Given the description of an element on the screen output the (x, y) to click on. 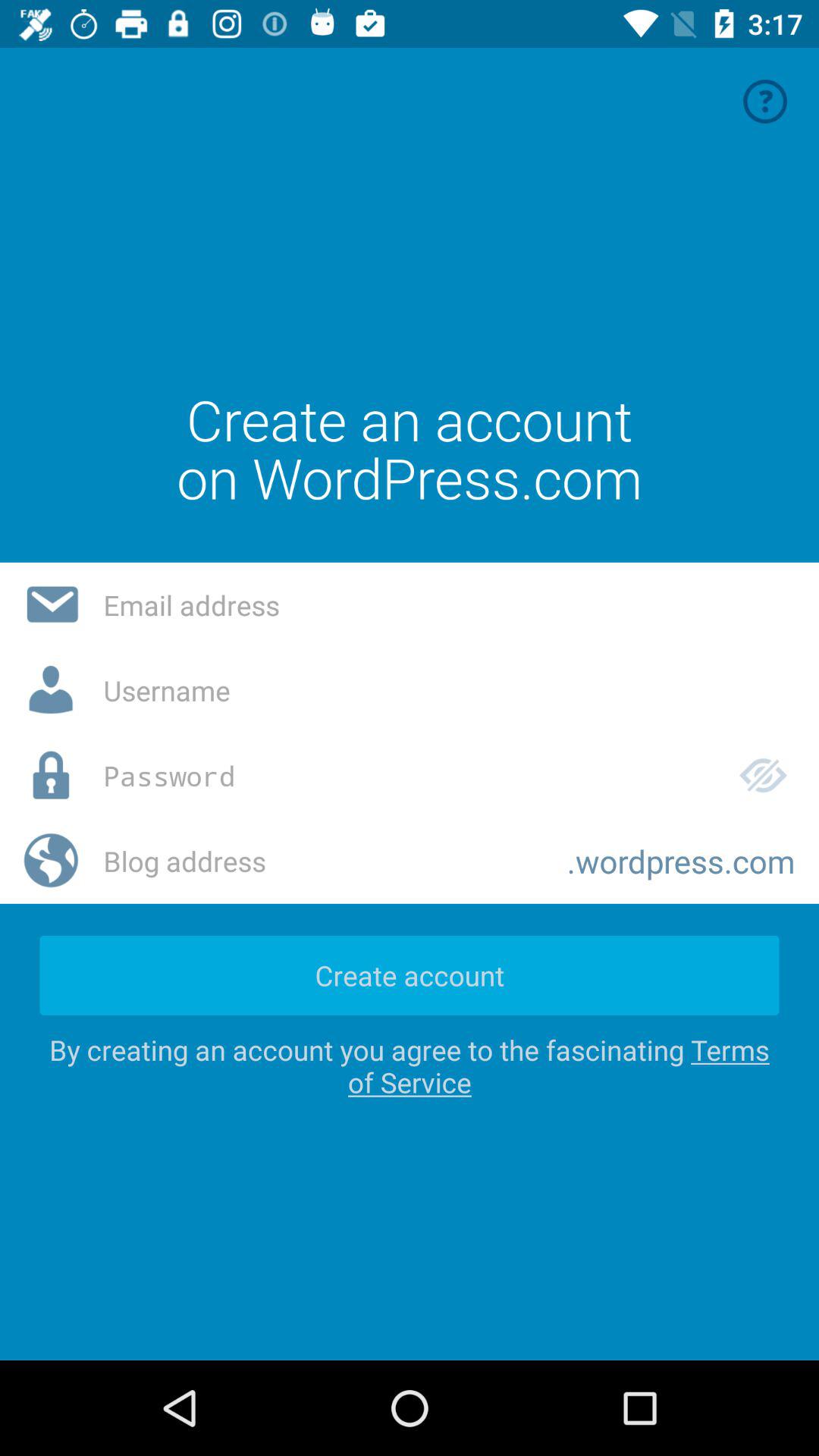
insert email address (449, 604)
